Given the description of an element on the screen output the (x, y) to click on. 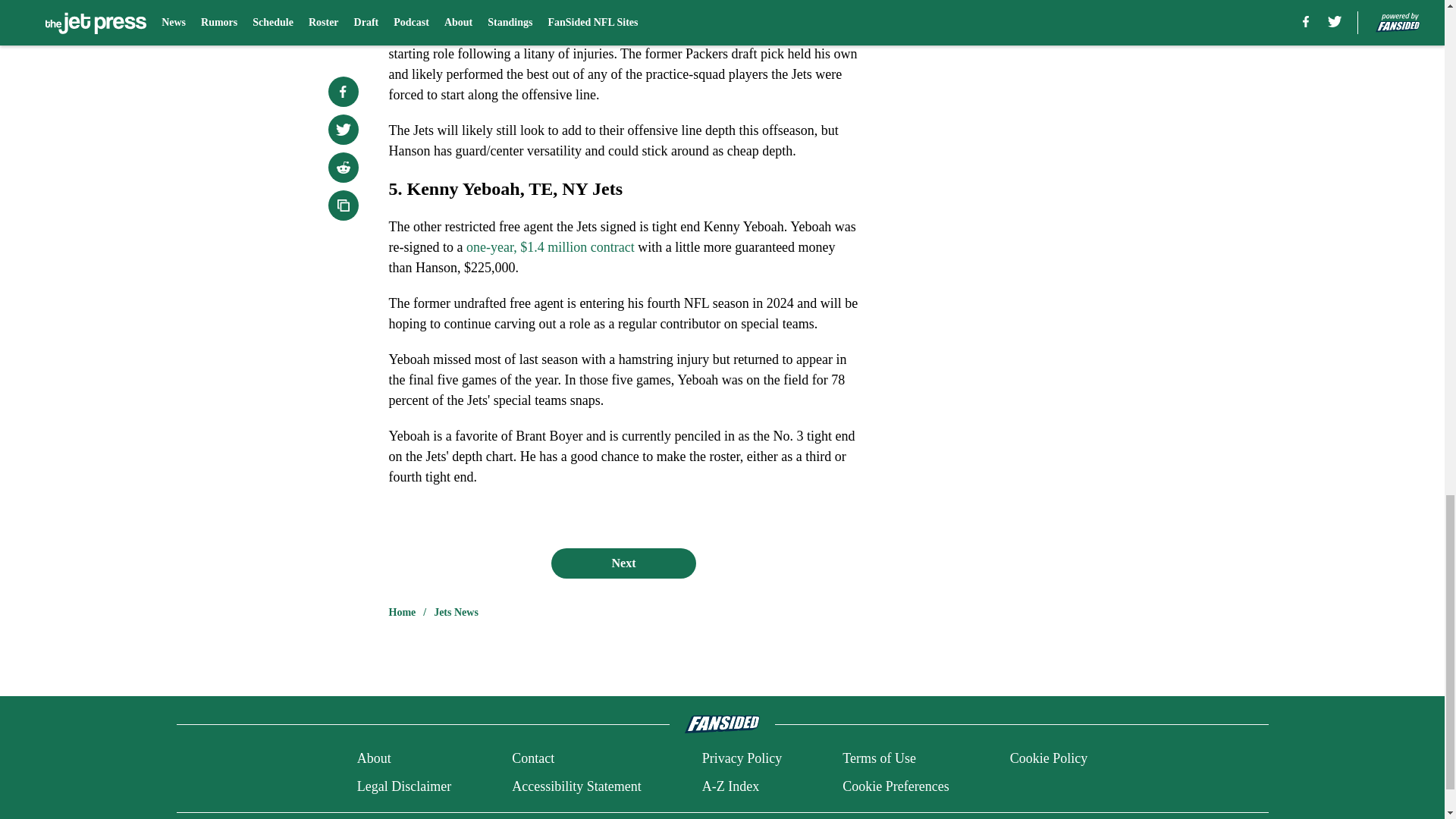
Next (622, 562)
Terms of Use (879, 758)
Contact (533, 758)
Cookie Preferences (896, 786)
About (373, 758)
Privacy Policy (742, 758)
Jets News (456, 612)
Accessibility Statement (576, 786)
Cookie Policy (1048, 758)
Home (401, 612)
